Given the description of an element on the screen output the (x, y) to click on. 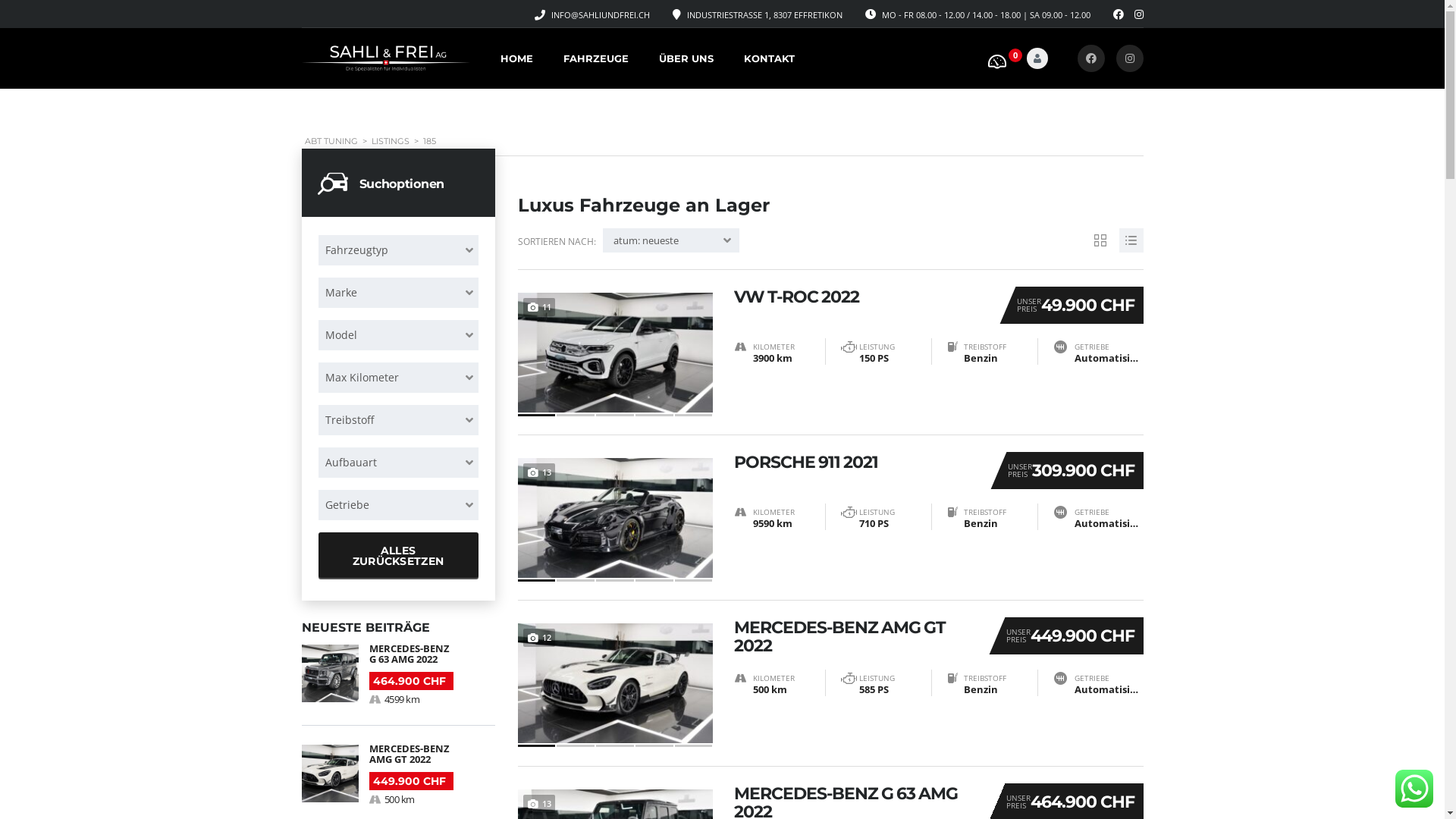
Startseite Element type: hover (385, 57)
0 Element type: text (1000, 56)
LISTINGS Element type: text (390, 140)
HOME Element type: text (516, 58)
Anmelden Element type: text (1001, 300)
PORSCHE 911 2021 Element type: text (855, 462)
ABT TUNING Element type: text (330, 140)
MERCEDES-BENZ AMG GT 2022
449.900 CHF
500 km Element type: text (398, 765)
INFO@SAHLIUNDFREI.CH Element type: text (599, 14)
FAHRZEUGE Element type: text (595, 58)
MERCEDES-BENZ G 63 AMG 2022
464.900 CHF
4599 km Element type: text (398, 675)
MERCEDES-BENZ AMG GT 2022 Element type: text (854, 636)
KONTAKT Element type: text (768, 58)
VW T-ROC 2022 Element type: text (860, 297)
